Given the description of an element on the screen output the (x, y) to click on. 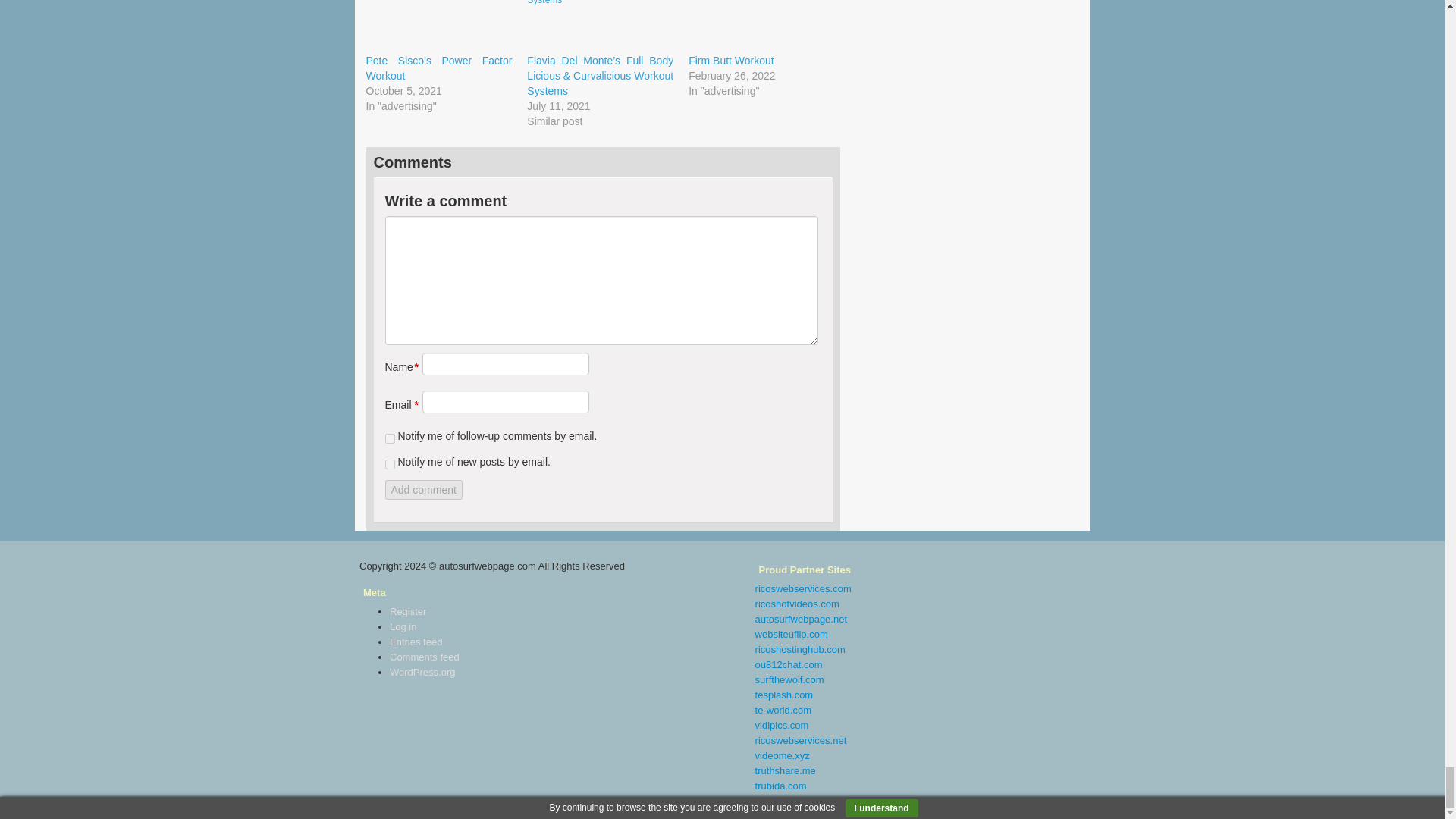
Add comment (424, 489)
subscribe (389, 464)
subscribe (389, 438)
